Given the description of an element on the screen output the (x, y) to click on. 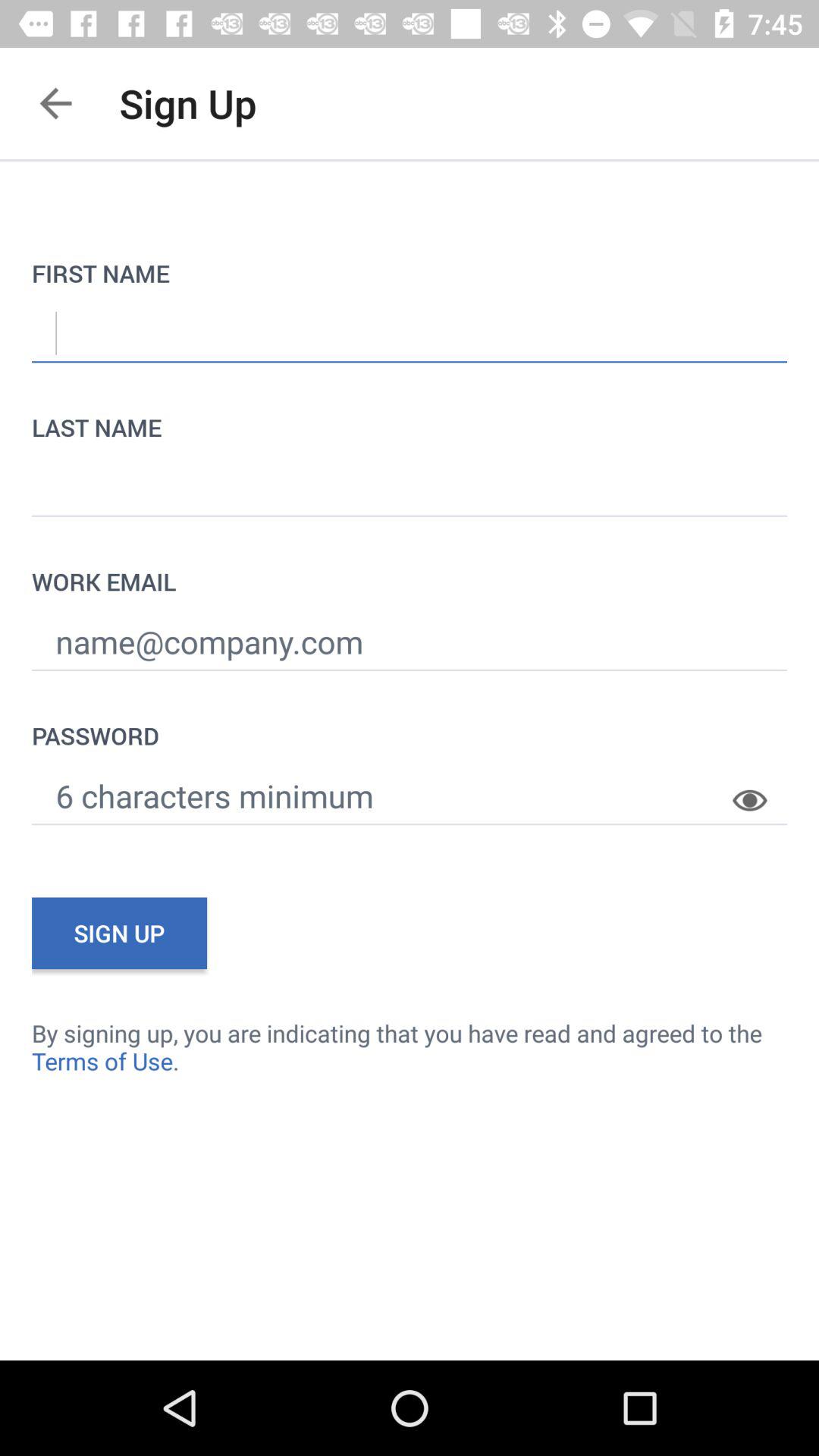
tap item below sign up (409, 1046)
